Given the description of an element on the screen output the (x, y) to click on. 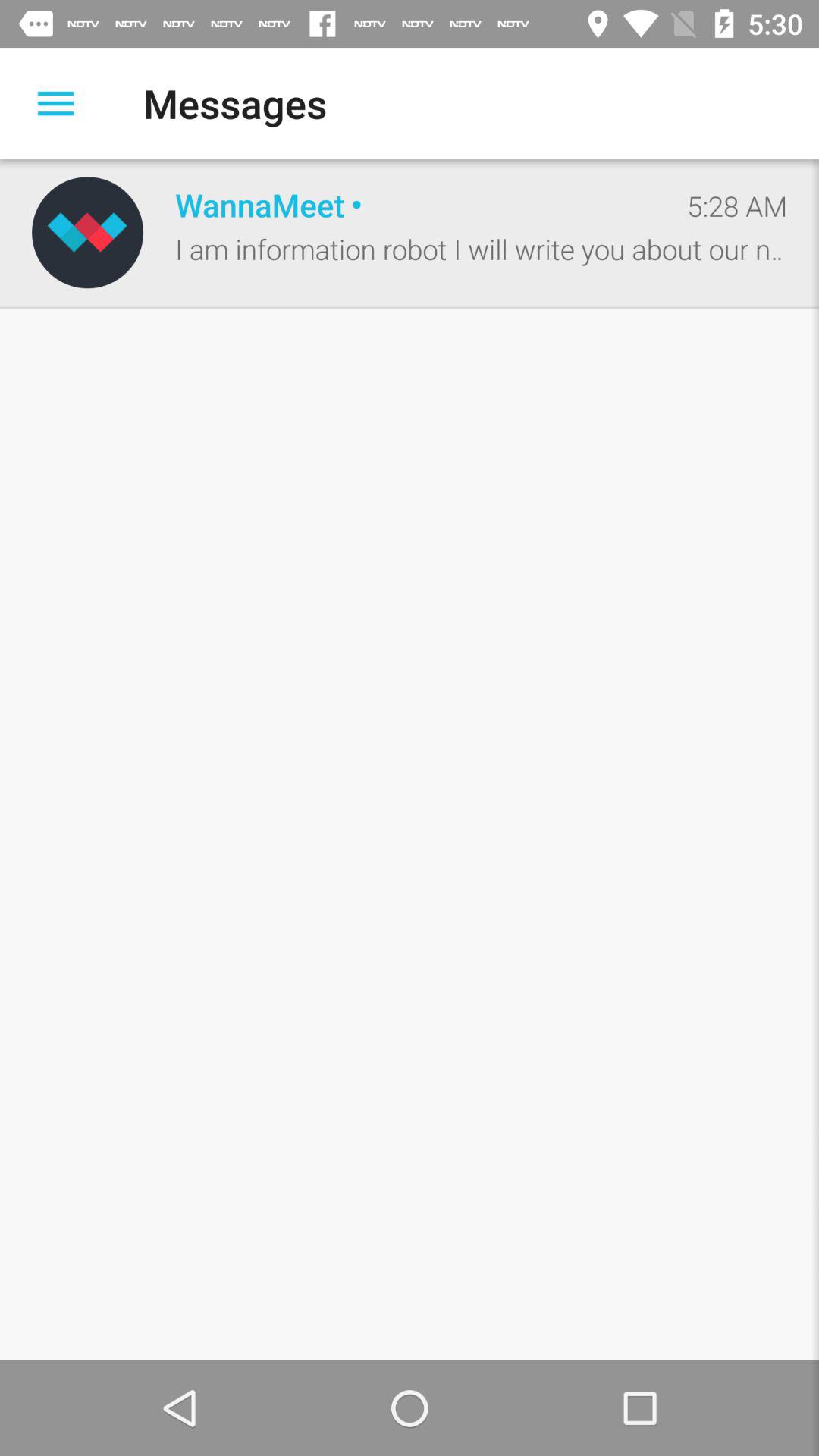
choose item below the wannameet   item (481, 248)
